Given the description of an element on the screen output the (x, y) to click on. 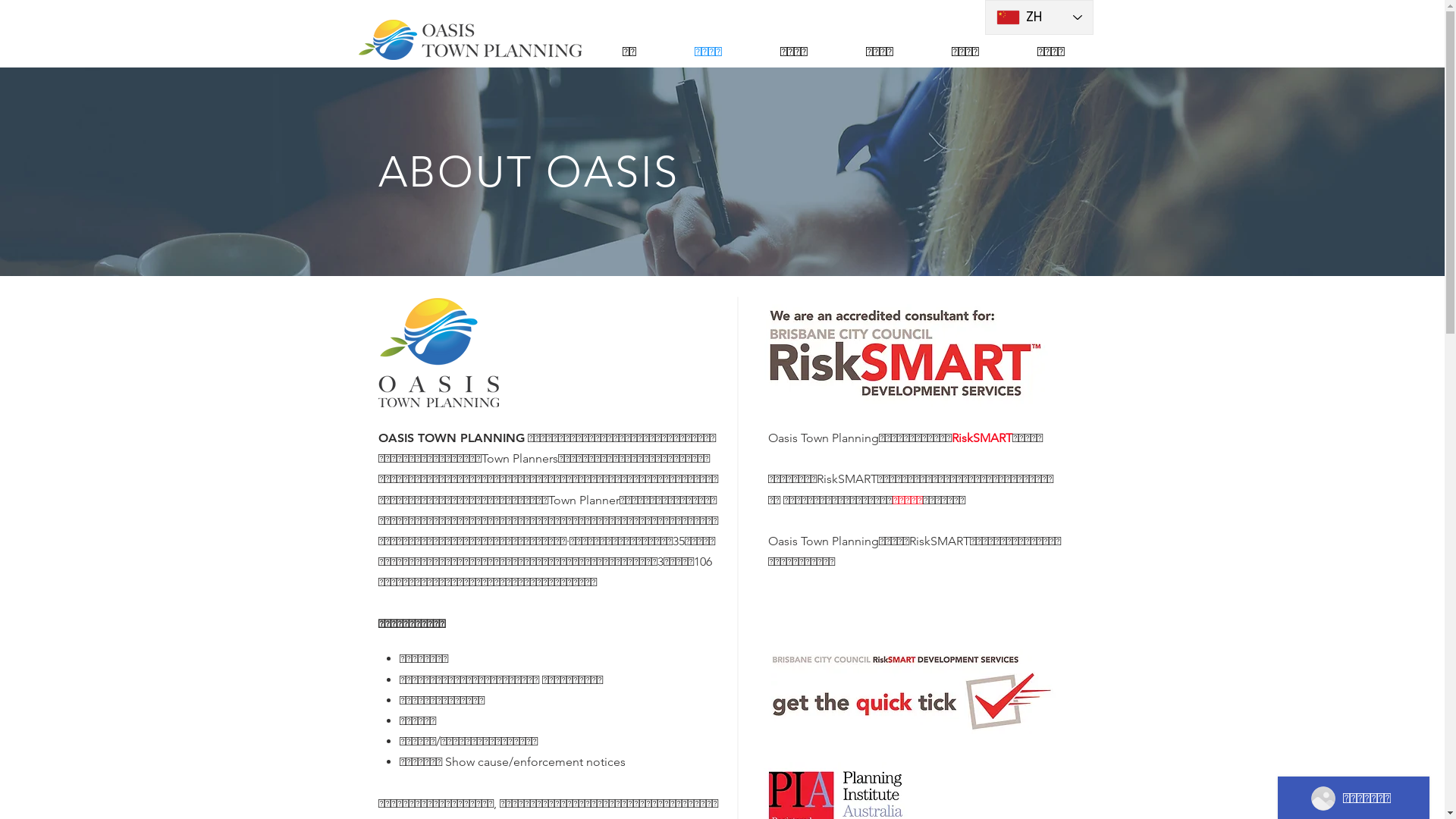
RiskSmart-AC-Logo-CMYKOnWhite.jpg Element type: hover (900, 352)
oasis_logo.png Element type: hover (468, 39)
RiskSmart-Tick-Logo-CMYKOnWhite_new.jpg Element type: hover (911, 691)
